Given the description of an element on the screen output the (x, y) to click on. 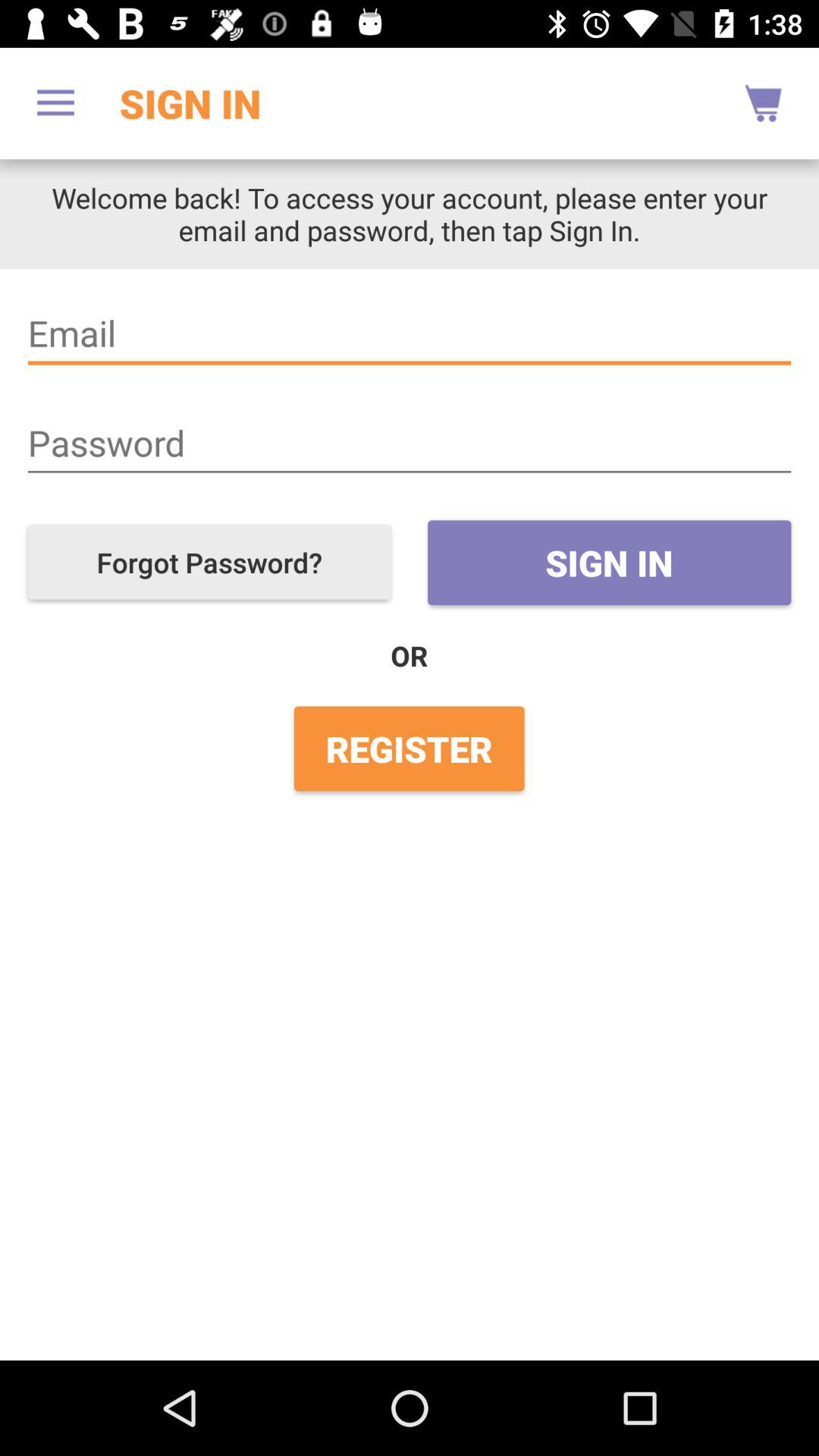
select the item above welcome back to icon (55, 103)
